Given the description of an element on the screen output the (x, y) to click on. 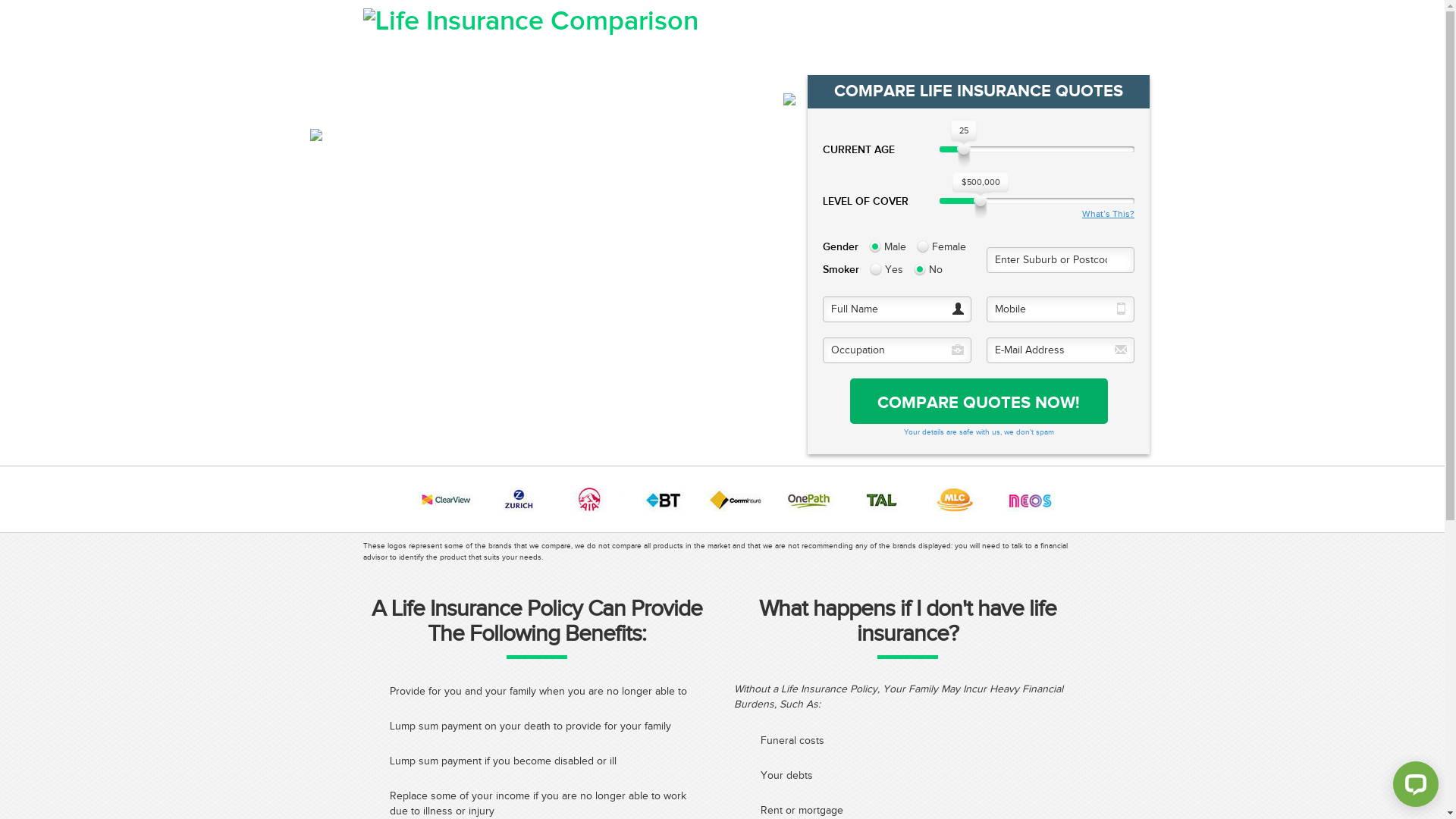
1300 904 624 Element type: text (1013, 24)
COMPARE QUOTES NOW! Element type: text (978, 400)
Life Insurance Comparison Element type: hover (529, 20)
